Given the description of an element on the screen output the (x, y) to click on. 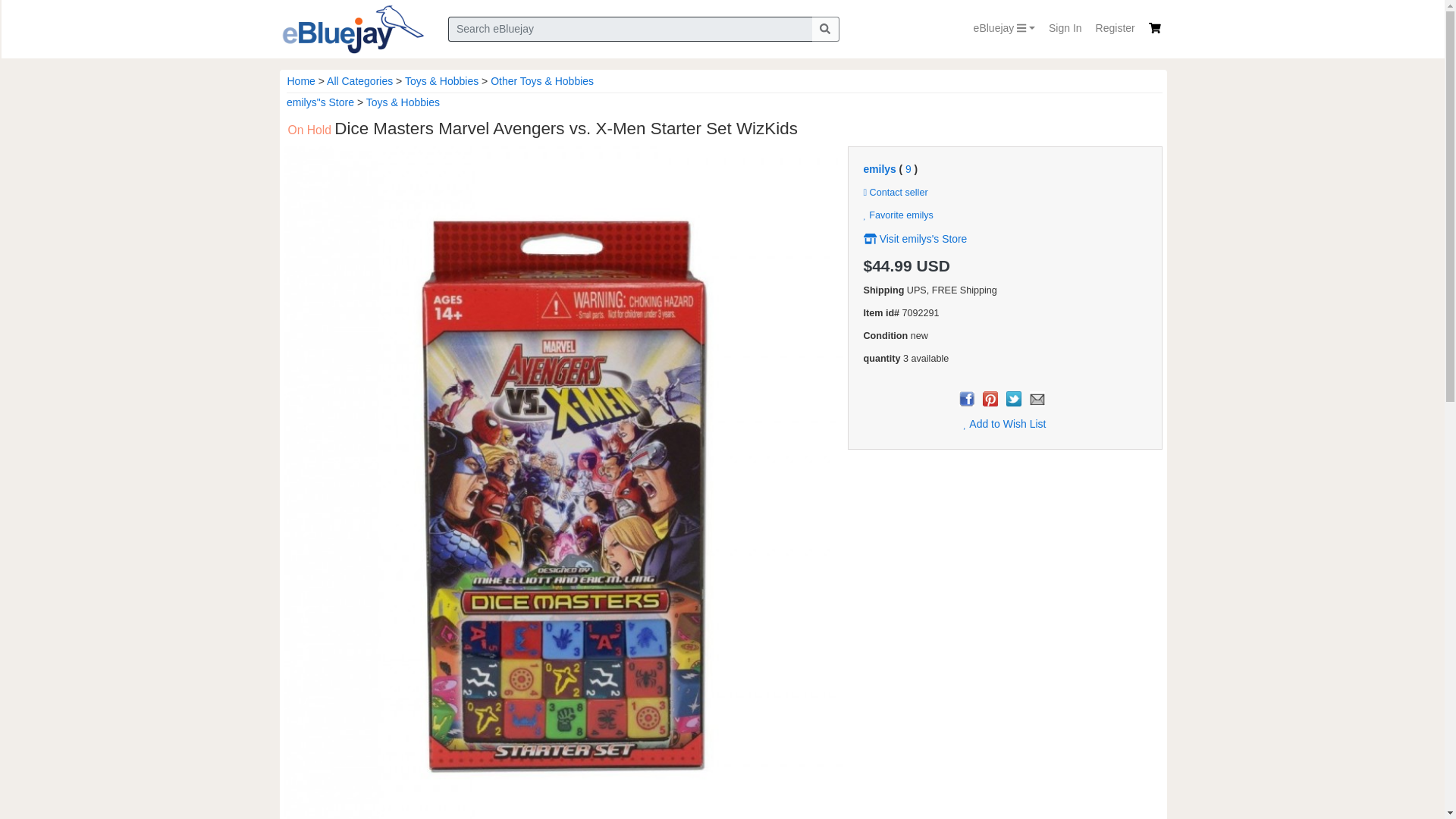
US Dollars (933, 265)
eBluejay (1004, 28)
All Categories (359, 80)
emilys"s Store (319, 102)
Purchase items in your shopping cart (1154, 27)
Home (300, 80)
emilys (879, 168)
eBluejay categories (1004, 28)
submit (824, 29)
Contact seller (895, 192)
